Given the description of an element on the screen output the (x, y) to click on. 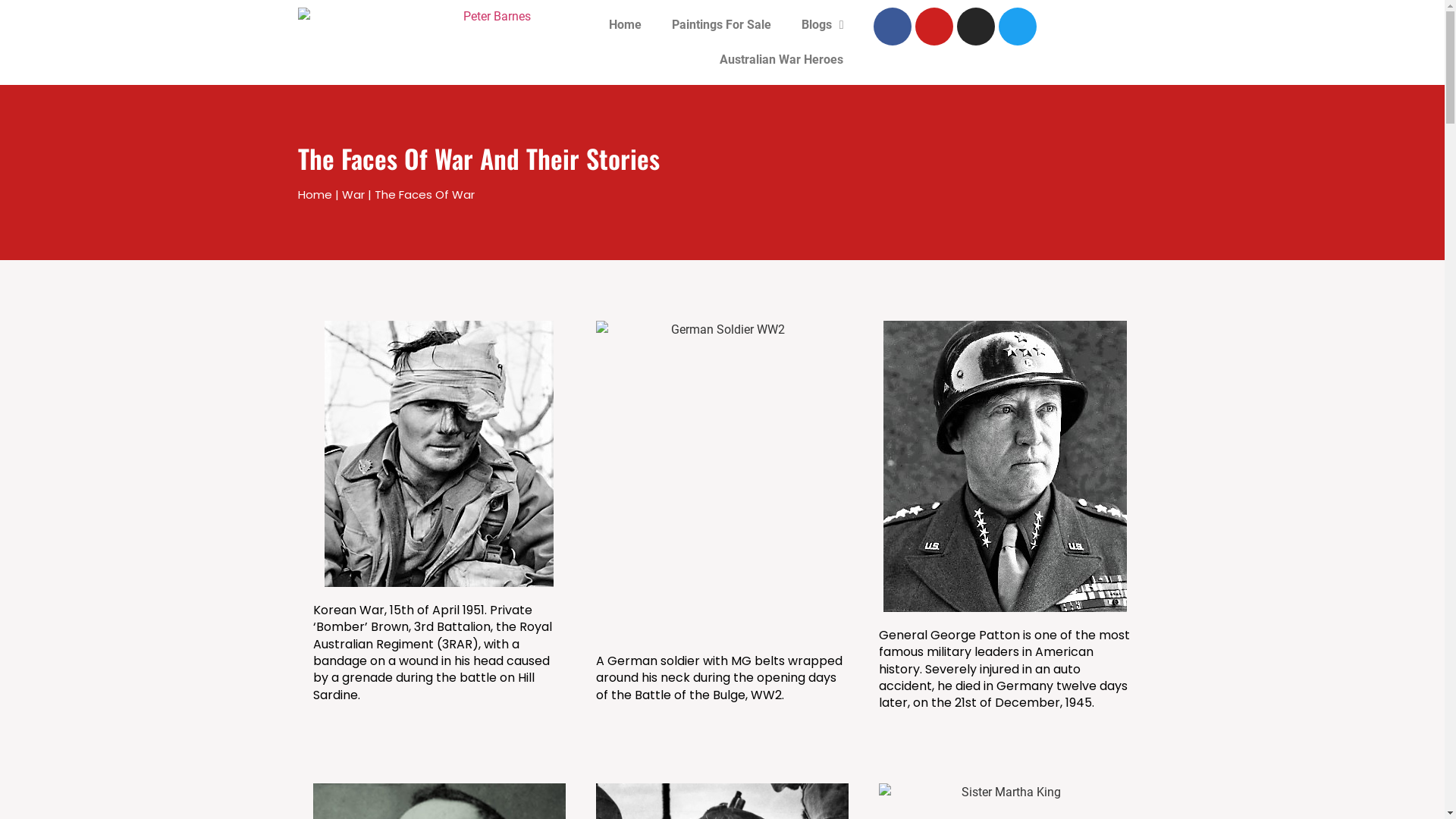
Australian War Heroes Element type: text (781, 59)
Home Element type: text (314, 194)
War Element type: text (352, 194)
Paintings For Sale Element type: text (721, 24)
Home Element type: text (624, 24)
Blogs Element type: text (822, 24)
